Given the description of an element on the screen output the (x, y) to click on. 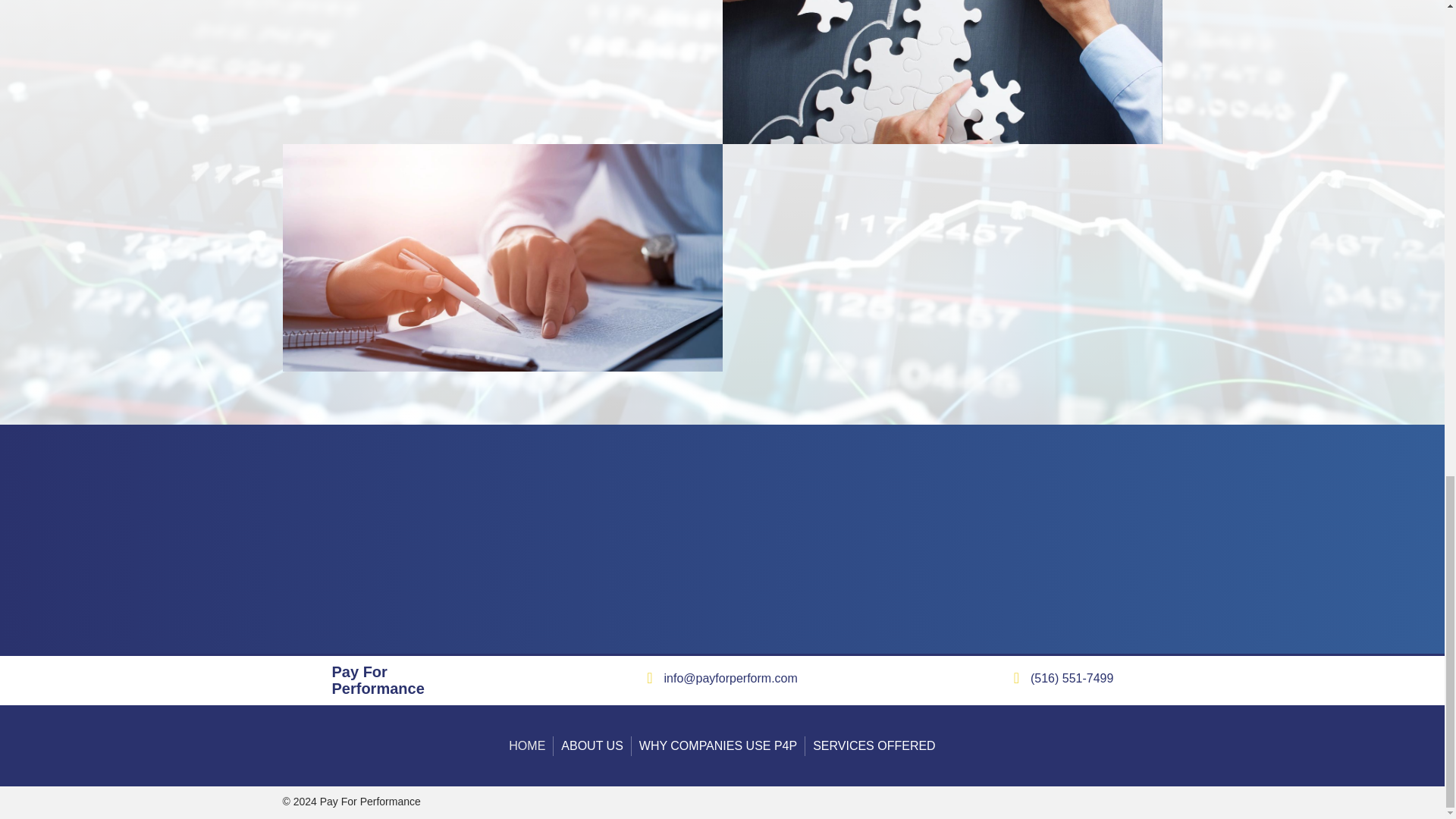
Page 2 (730, 678)
WHY COMPANIES USE P4P (718, 745)
HOME (526, 745)
lightbulb (298, 680)
SERVICES OFFERED (874, 745)
Page 2 (1071, 678)
ABOUT US (591, 745)
